Given the description of an element on the screen output the (x, y) to click on. 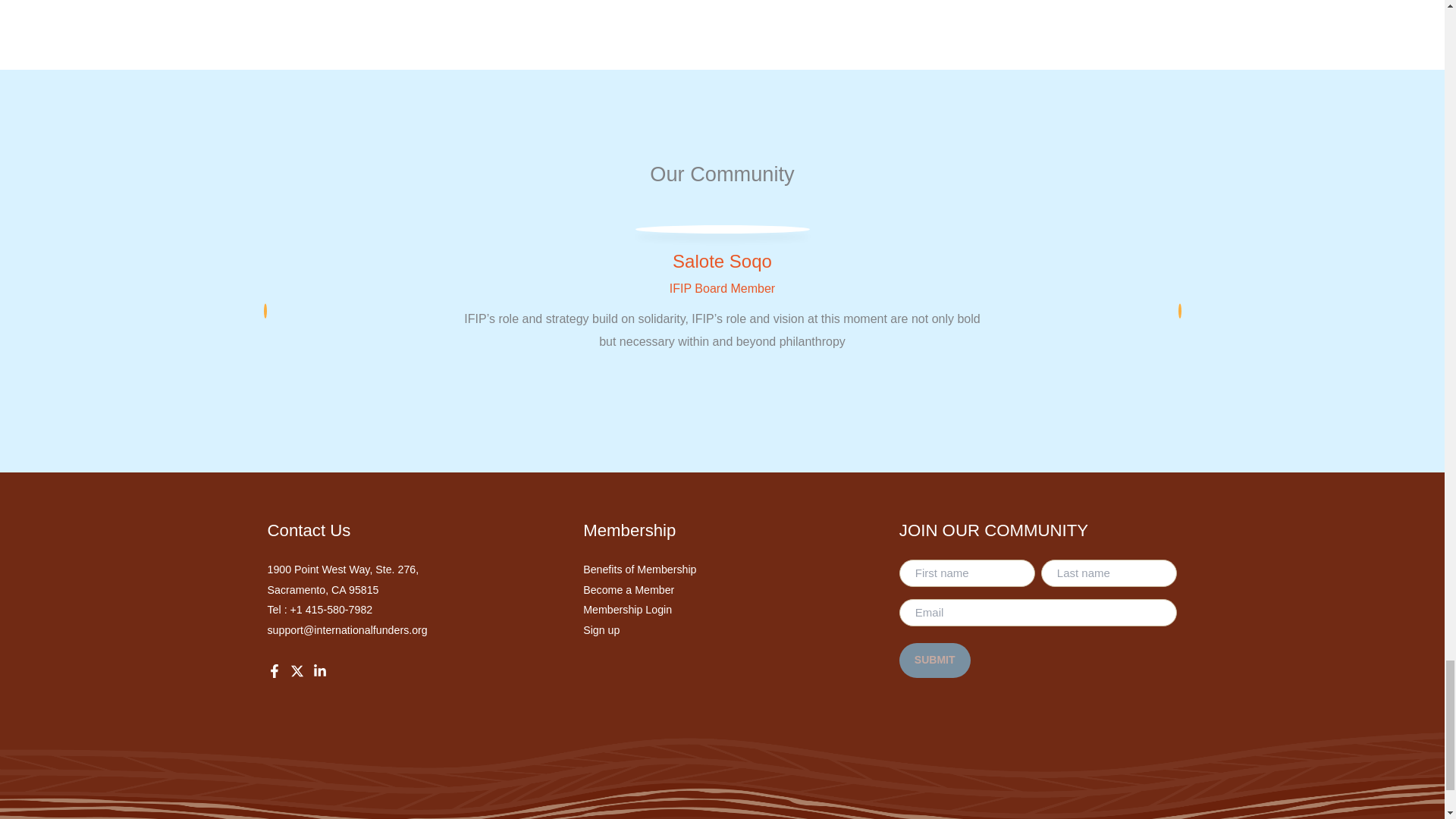
Submit (935, 660)
